Given the description of an element on the screen output the (x, y) to click on. 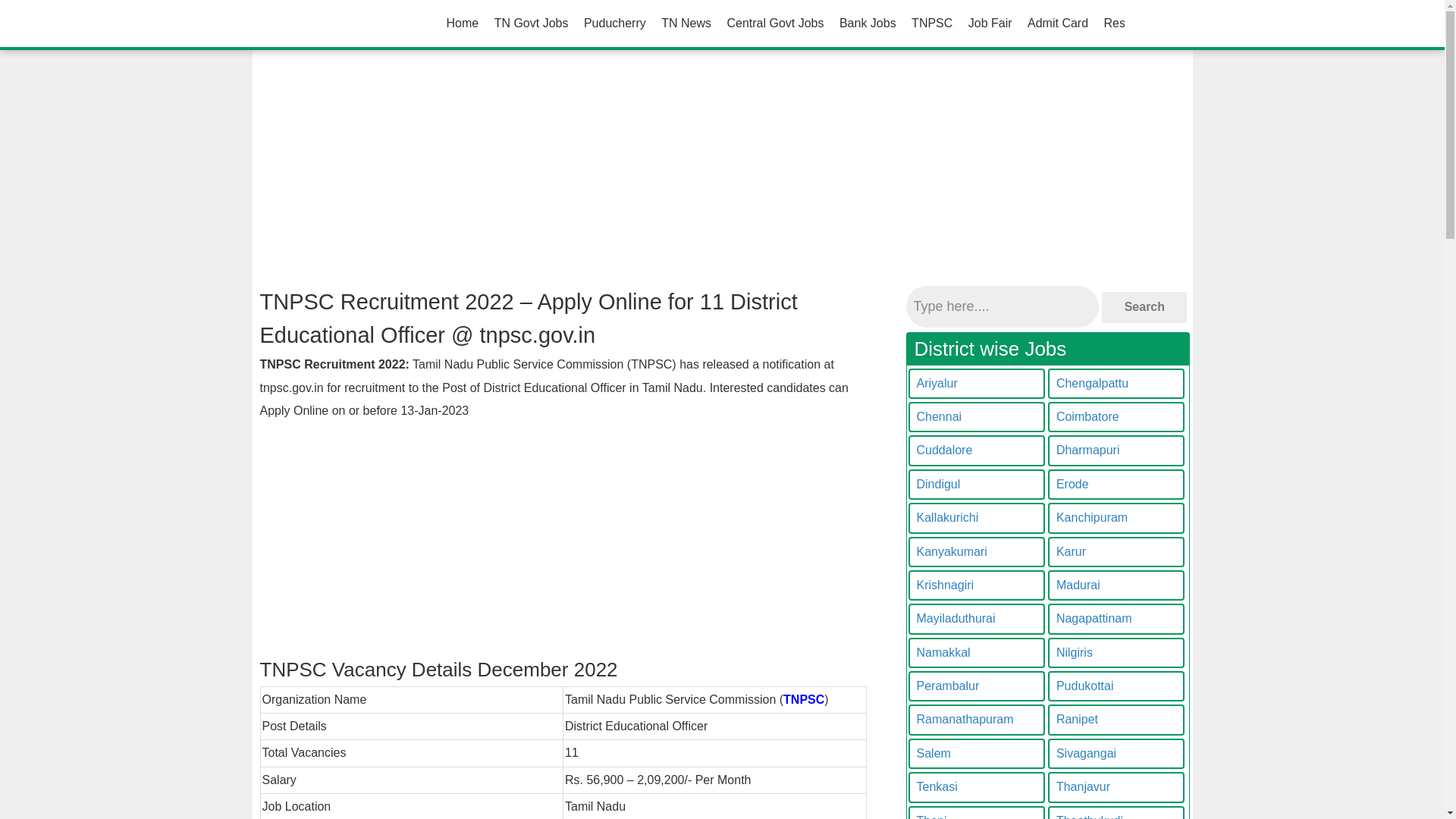
Dharmapuri (1116, 450)
Erode (1116, 484)
TNPSC (803, 698)
Govt Jobs in Chennai (976, 417)
Govt Jobs in Kallakurichi (976, 517)
Puducherry (615, 23)
Central Govt Jobs (774, 23)
Karur (1116, 552)
Krishnagiri (976, 585)
Bank Jobs (867, 23)
Govt Jobs in Cuddalore (976, 450)
Govt Jobs in Ariyalur (976, 383)
Govt Jobs in Nagapattinam (1116, 618)
Pudukottai (1116, 685)
Job Fair (989, 23)
